Given the description of an element on the screen output the (x, y) to click on. 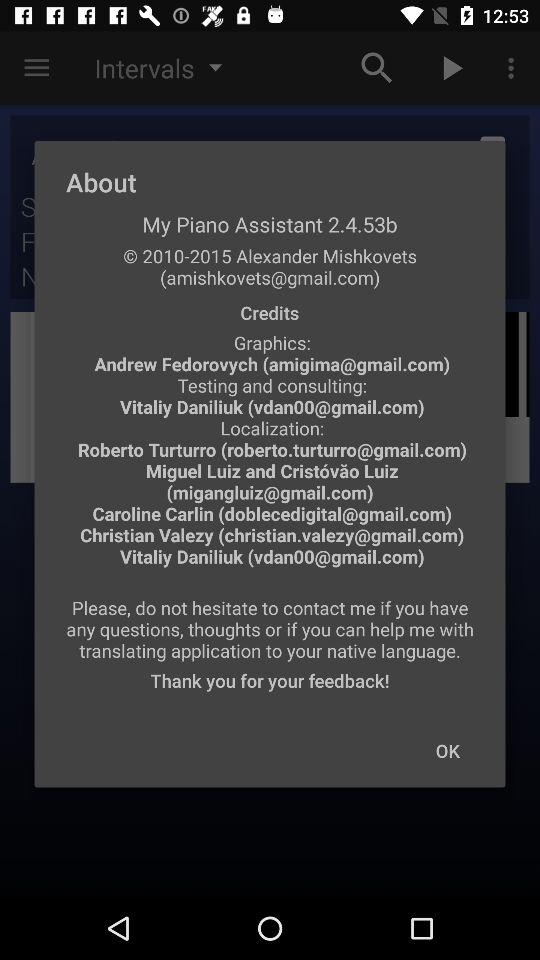
tap the ok (447, 750)
